Given the description of an element on the screen output the (x, y) to click on. 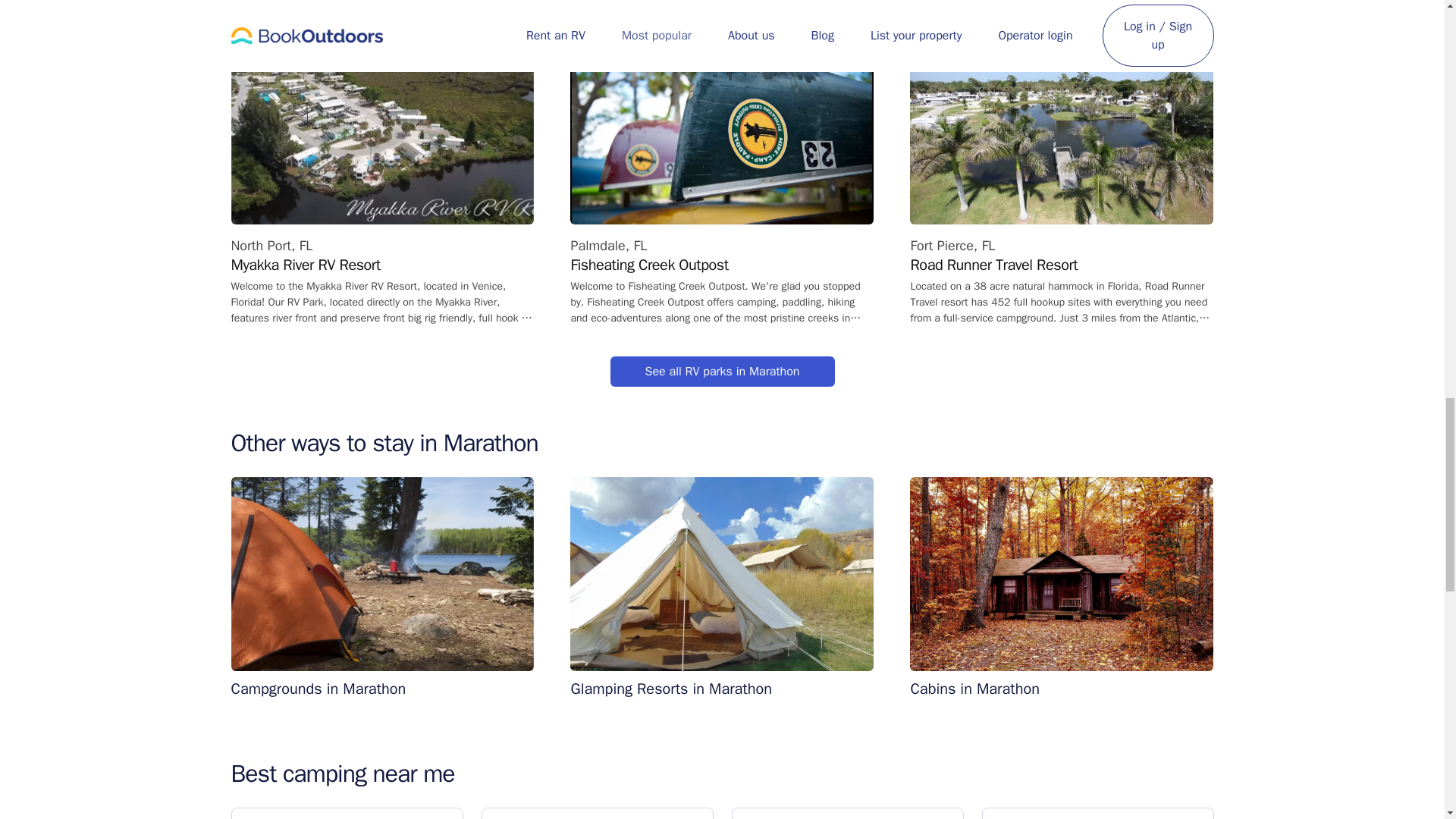
Campgrounds in Marathon (382, 587)
Best tent camping near me (596, 813)
Best cabins near me (846, 813)
Best RV parks near me (346, 813)
Best glamping resorts near me (1096, 813)
Glamping Resorts in Marathon (721, 587)
Cabins in Marathon (1061, 587)
See all RV parks in Marathon (722, 371)
